Given the description of an element on the screen output the (x, y) to click on. 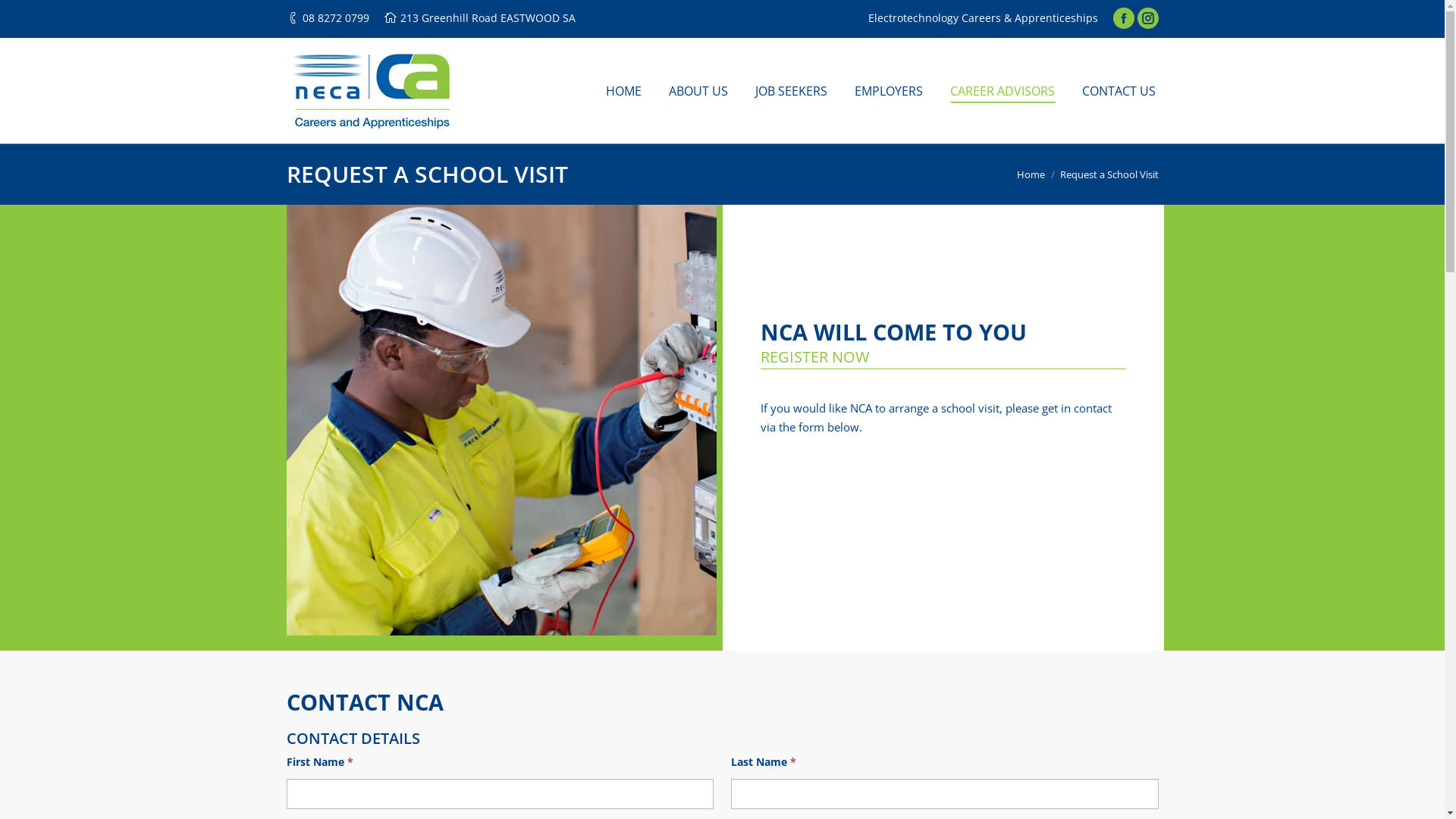
Home Element type: text (1030, 173)
Instagram Element type: text (1147, 17)
EMPLOYERS Element type: text (887, 90)
CONTACT US Element type: text (1117, 90)
JOB SEEKERS Element type: text (791, 90)
Facebook Element type: text (1123, 17)
HOME Element type: text (622, 90)
ABOUT US Element type: text (698, 90)
CAREER ADVISORS Element type: text (1001, 90)
